Given the description of an element on the screen output the (x, y) to click on. 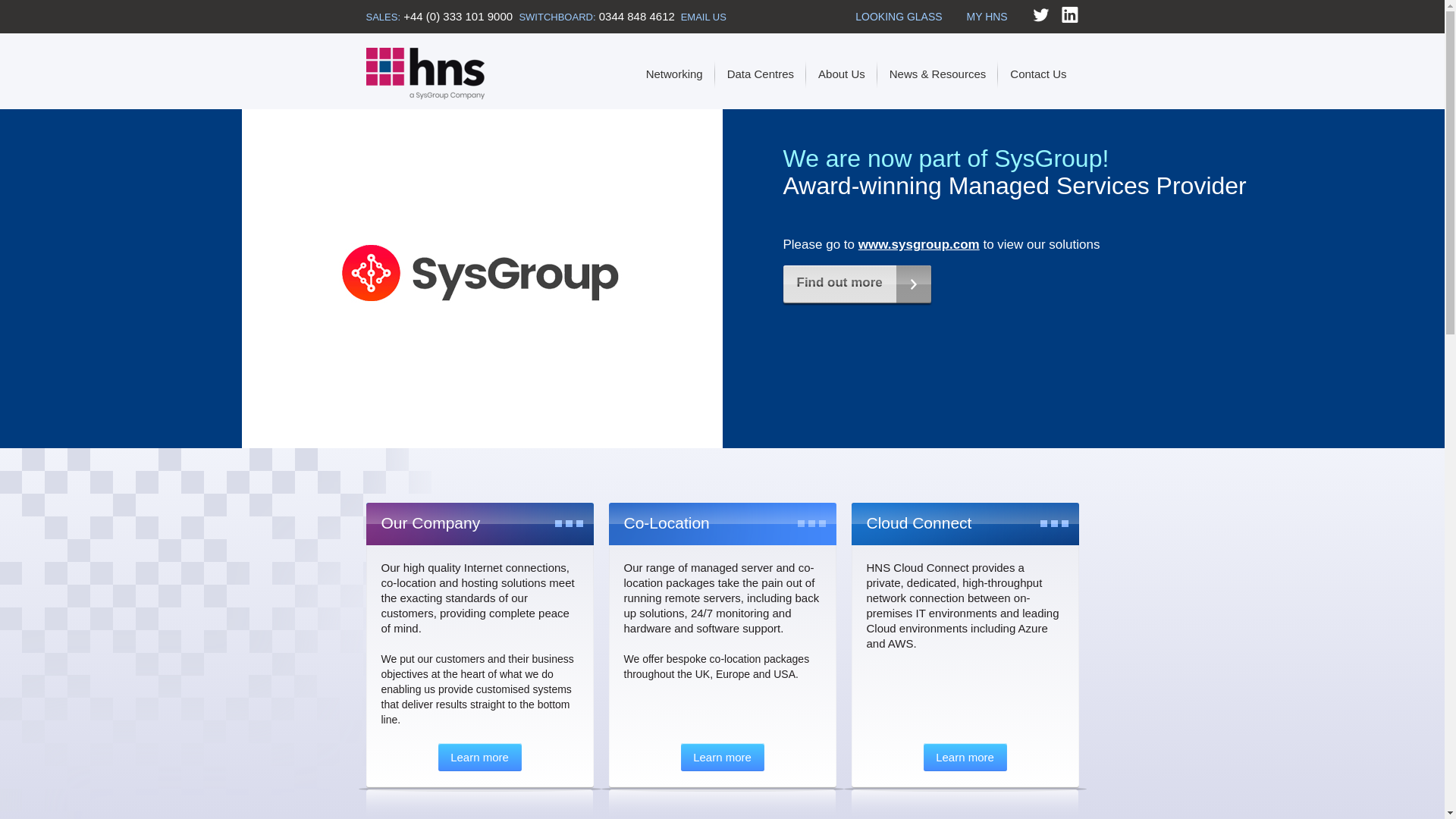
0344 848 4612 (636, 15)
EMAIL US (703, 16)
